Given the description of an element on the screen output the (x, y) to click on. 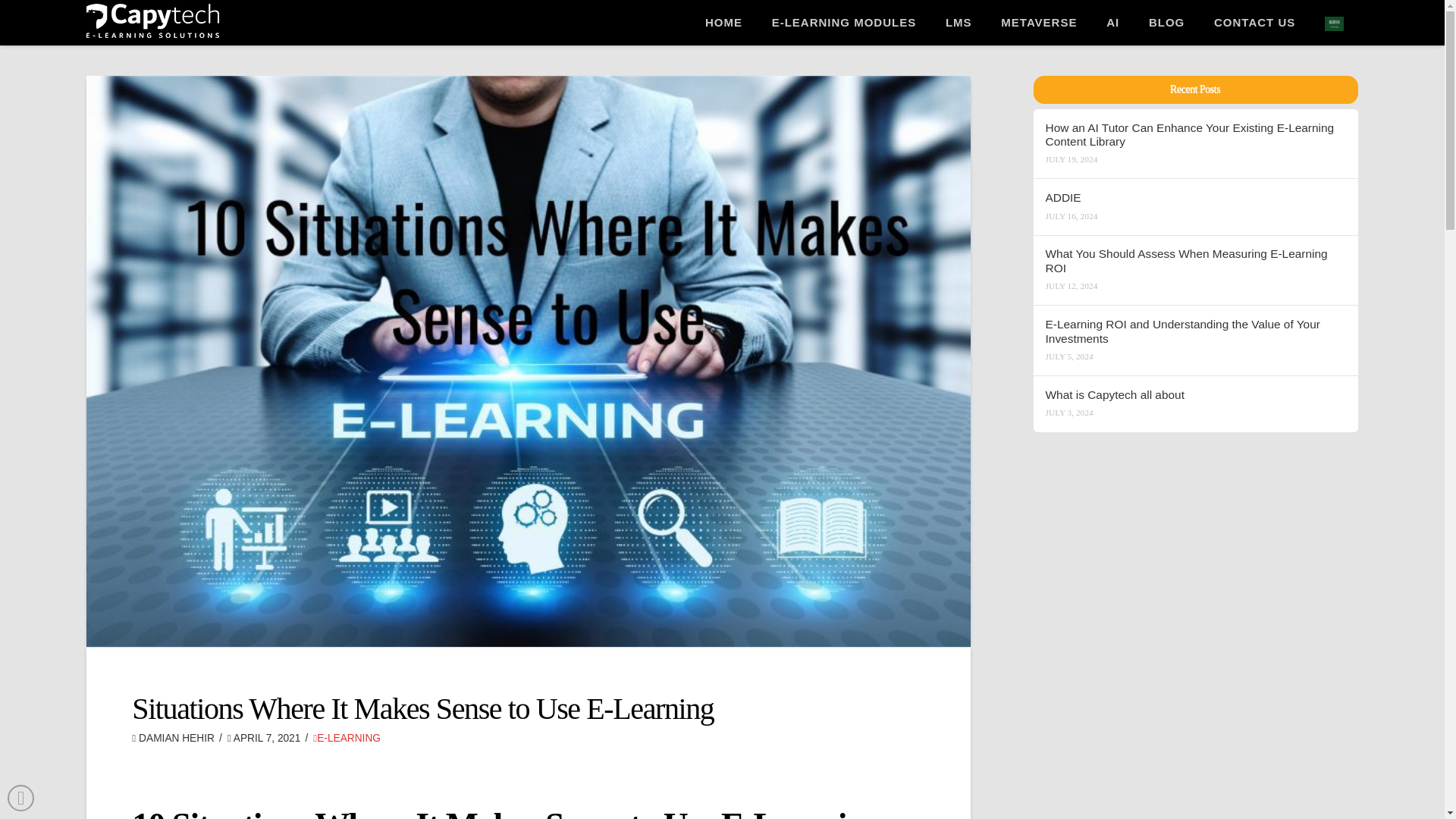
What You Should Assess When Measuring E-Learning ROI (1195, 261)
ADDIE (1195, 197)
BLOG (1165, 8)
METAVERSE (1038, 8)
E-LEARNING (346, 737)
LMS (957, 8)
What is Capytech all about (1195, 395)
Back to Top (20, 797)
AR (1333, 8)
HOME (722, 8)
CONTACT US (1254, 8)
E-LEARNING MODULES (843, 8)
